Given the description of an element on the screen output the (x, y) to click on. 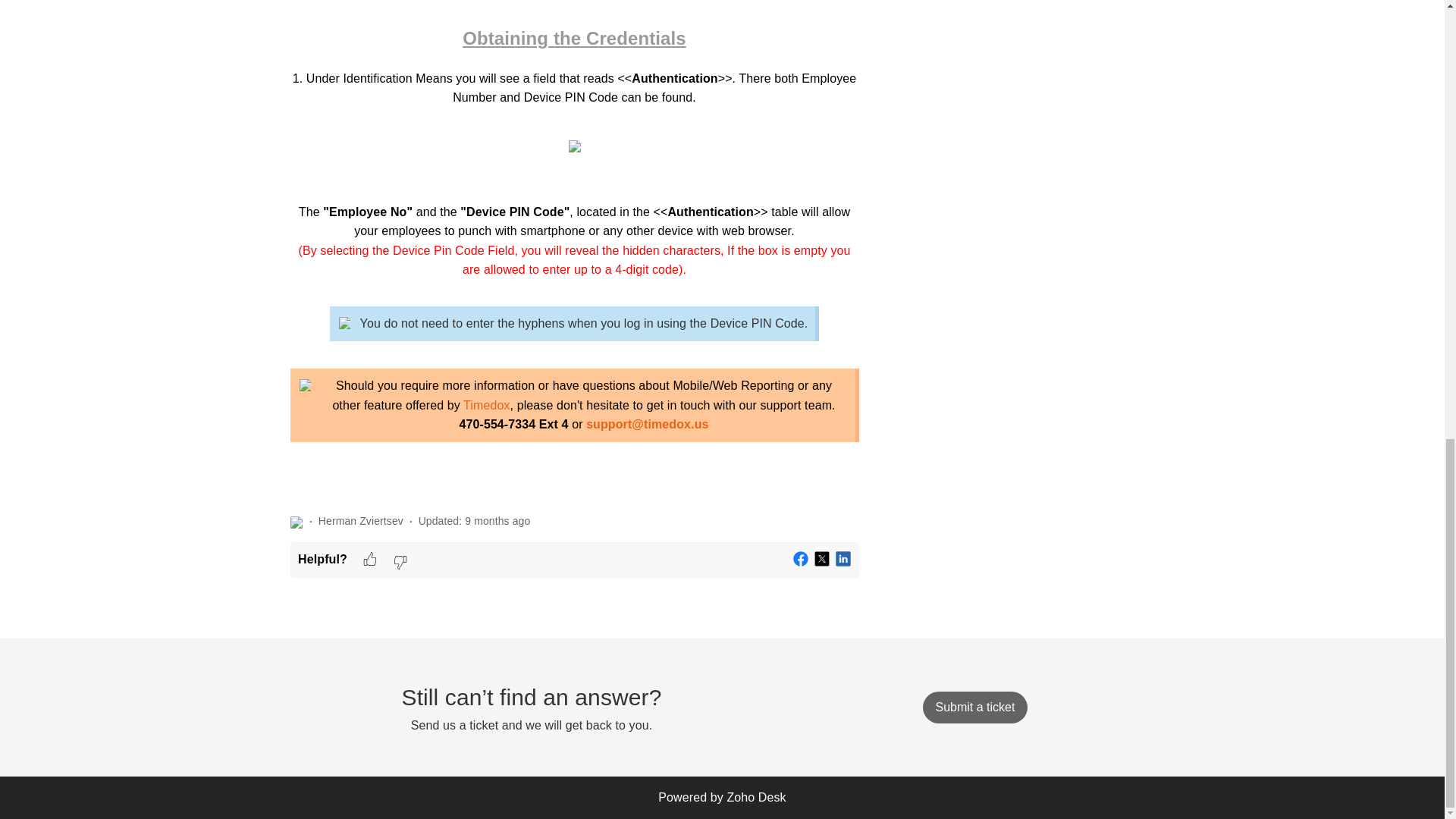
Submit a ticket (974, 707)
Submit a ticket (974, 707)
Zoho Desk (756, 797)
Timedox (486, 404)
15 Nov 2023 04:57 AM (496, 521)
Facebook (800, 558)
LinkedIn (842, 558)
Twitter (821, 558)
